Given the description of an element on the screen output the (x, y) to click on. 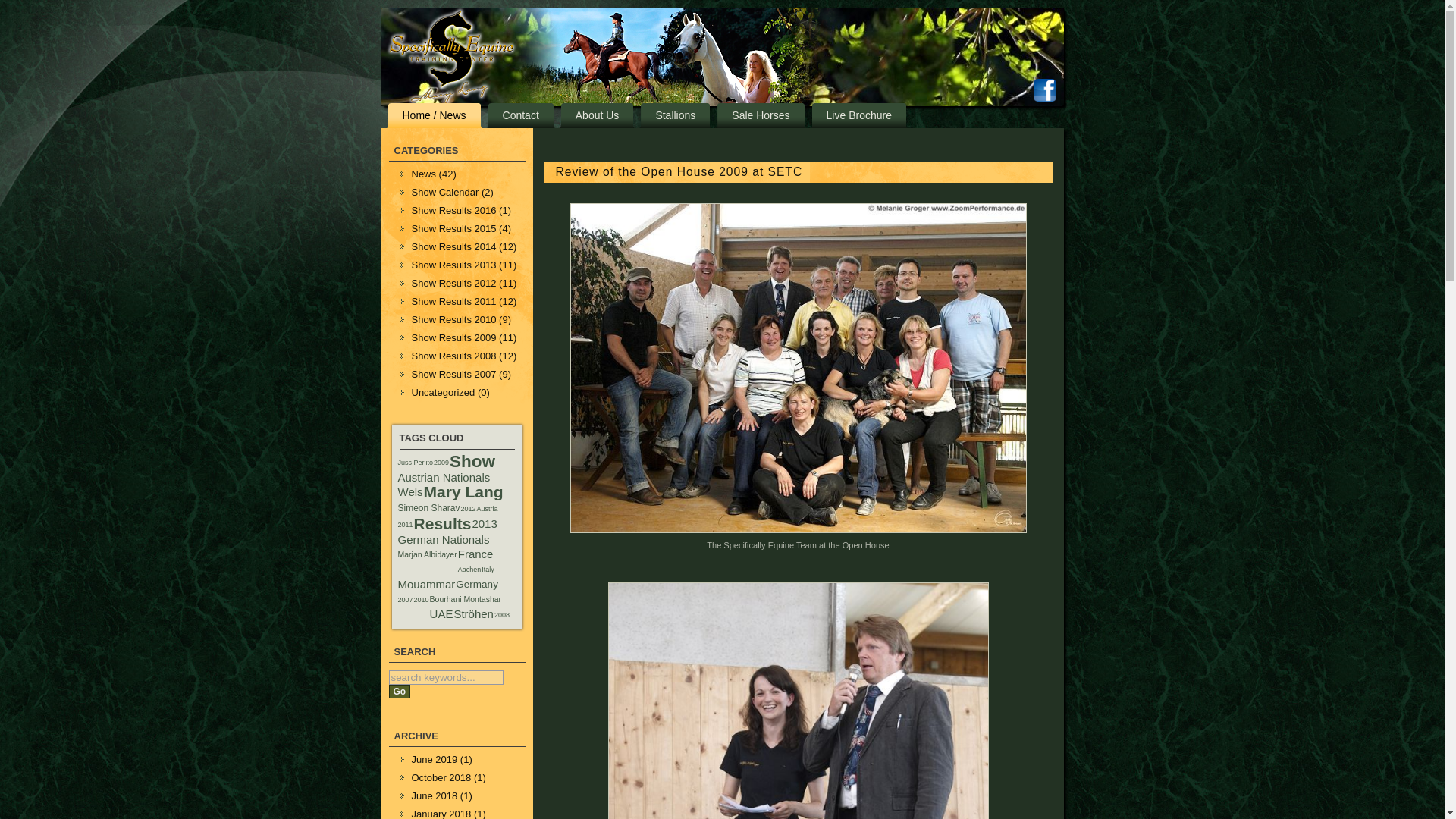
Go (399, 691)
7 (427, 584)
Sale Horses (760, 115)
Stallions (675, 115)
12 (487, 508)
Austrian Nationals (444, 477)
Wels (410, 491)
CATEGORIES (456, 152)
5 (444, 477)
2009 (440, 462)
search keywords... (445, 677)
11 (468, 508)
About Us (597, 115)
Juss Perlito (415, 462)
5 (410, 491)
